Given the description of an element on the screen output the (x, y) to click on. 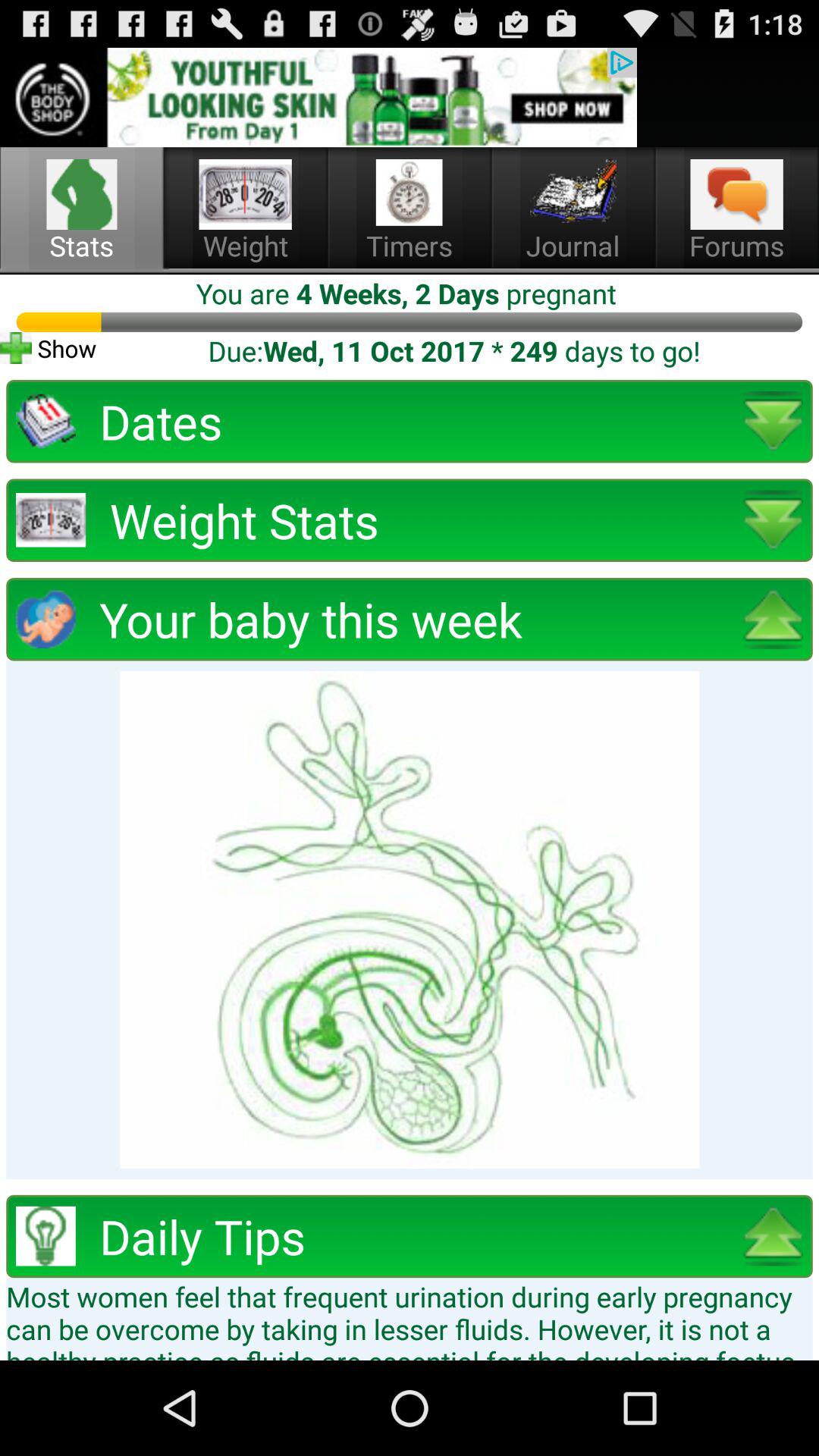
click to view image (409, 919)
